Given the description of an element on the screen output the (x, y) to click on. 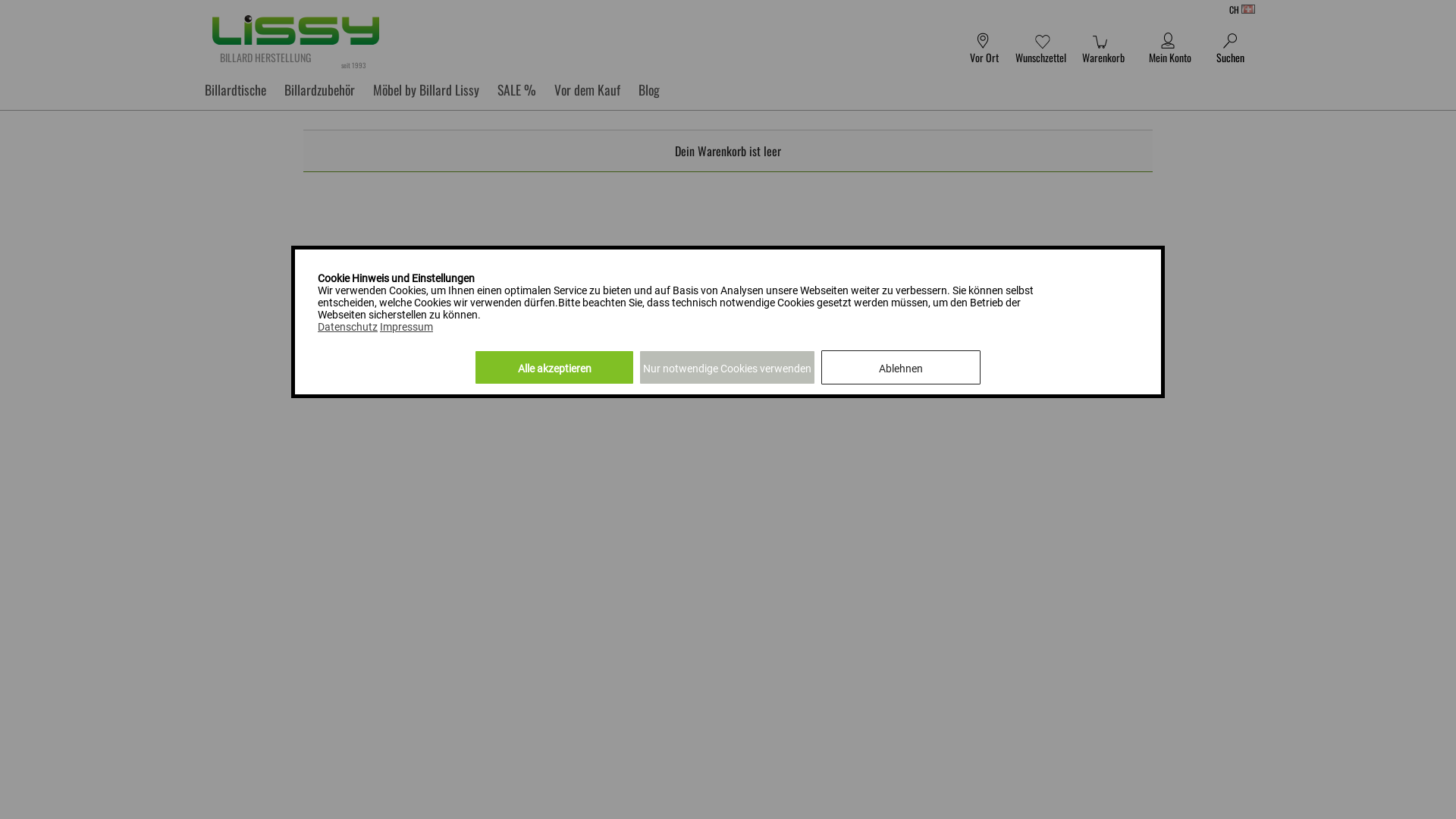
Vor dem Kauf Element type: text (587, 89)
Impressum Element type: text (406, 326)
CH Element type: text (1076, 9)
Blog Element type: text (648, 89)
Billardtische Element type: text (235, 89)
Datenschutz Element type: text (347, 326)
SALE % Element type: text (516, 89)
Ablehnen Element type: text (900, 367)
